Given the description of an element on the screen output the (x, y) to click on. 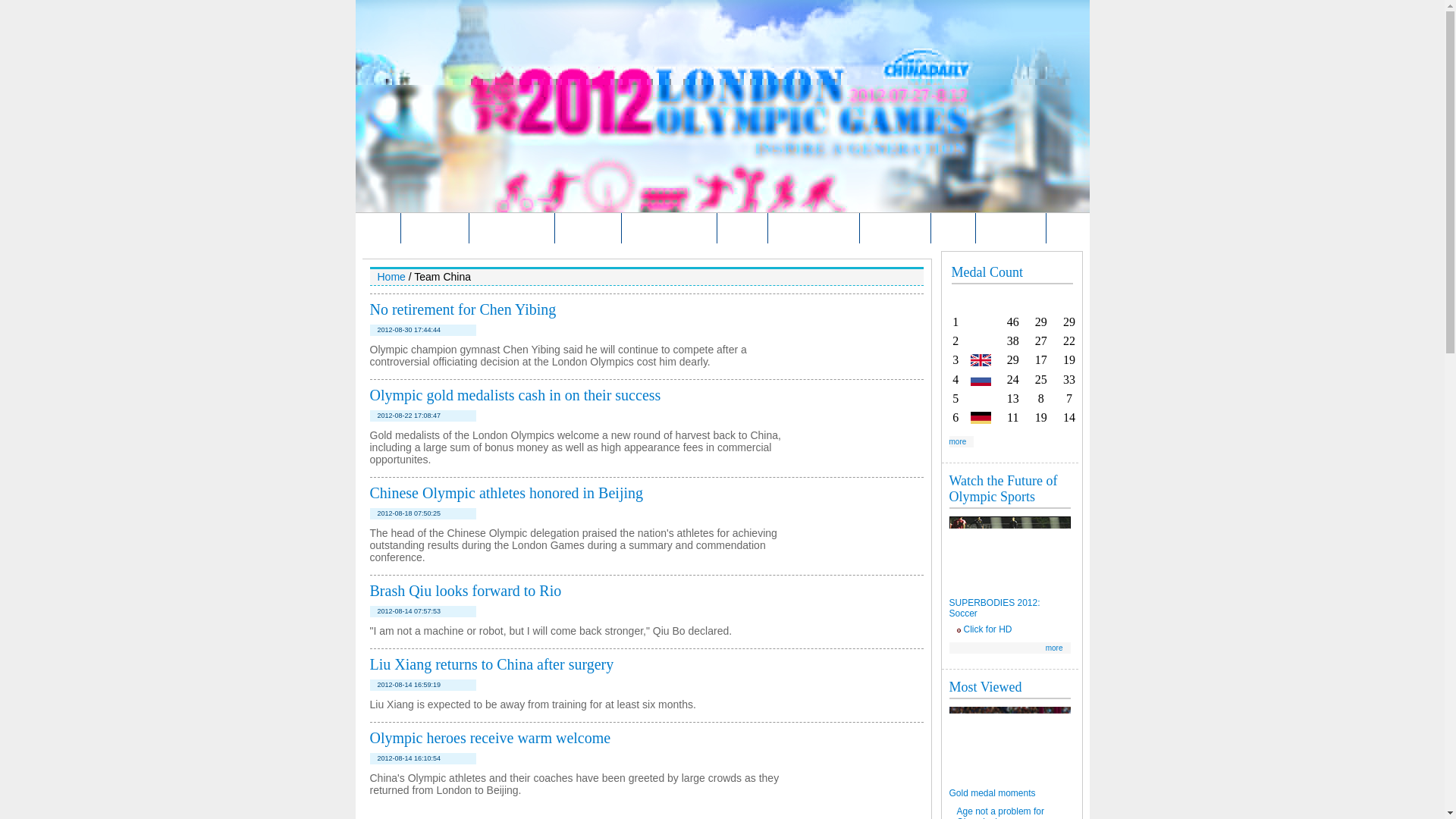
China in Olympics (669, 227)
Social Media (895, 227)
Home (381, 227)
No retirement for Chen Yibing (462, 309)
Olympics and Me (814, 227)
Latest News (434, 227)
Spotlight (742, 227)
Team China (587, 227)
London (953, 227)
Chinese Olympic athletes honored in Beijing (506, 492)
Frontline Report (511, 227)
Olympic gold medalists cash in on their success (515, 394)
Home (391, 276)
Liu Xiang returns to China after surgery (491, 664)
Brash Qiu looks forward to Rio (465, 590)
